Given the description of an element on the screen output the (x, y) to click on. 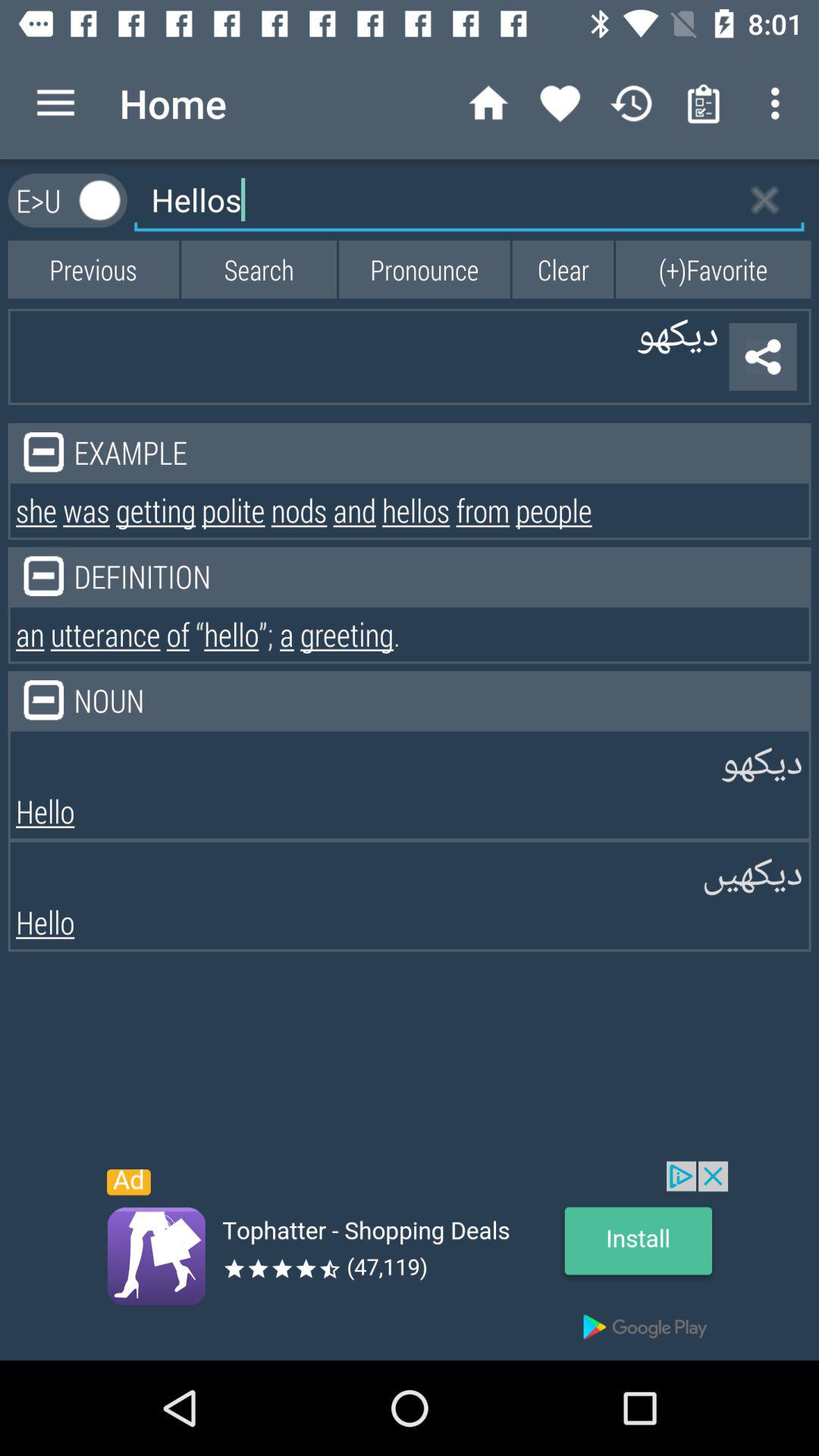
click on the first text box (469, 200)
select the white coloured circle (100, 200)
click the share button on the web page (763, 356)
click on the button which is next to the pronounce (562, 269)
